Given the description of an element on the screen output the (x, y) to click on. 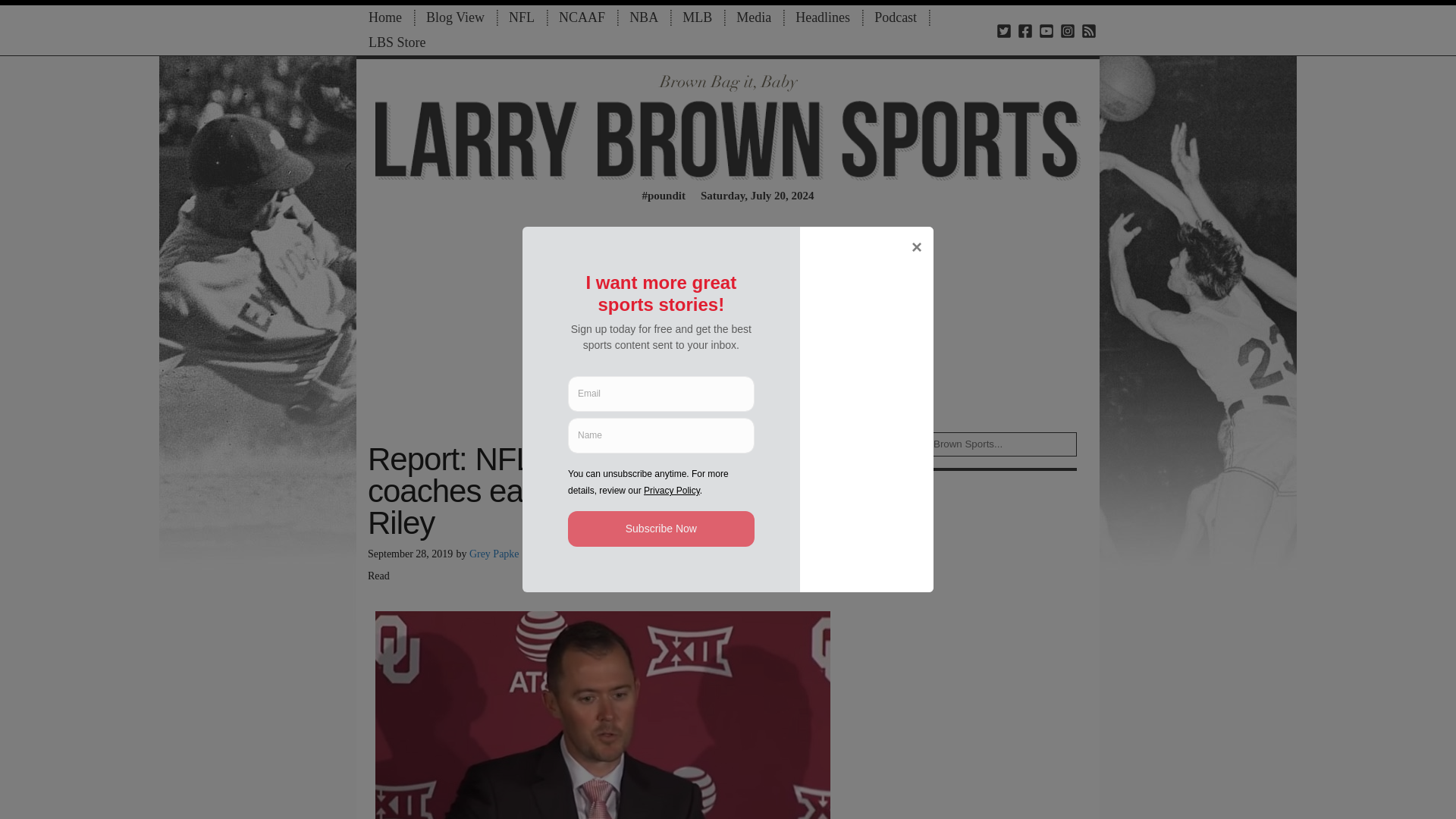
NFL (521, 17)
Media (753, 17)
Subscribe to Larry Brown Sports RSS Feed (1088, 29)
NCAAF (582, 17)
View Larry Brown Sports Twitter (1003, 29)
Blog View (454, 17)
View Larry Brown Sports Instagram (1067, 29)
View Larry Brown Sports Youtube (1046, 29)
Podcast (894, 17)
Twitter (671, 558)
MLB (696, 17)
Flipboard (697, 558)
NBA (643, 17)
LBS Store (397, 42)
